Given the description of an element on the screen output the (x, y) to click on. 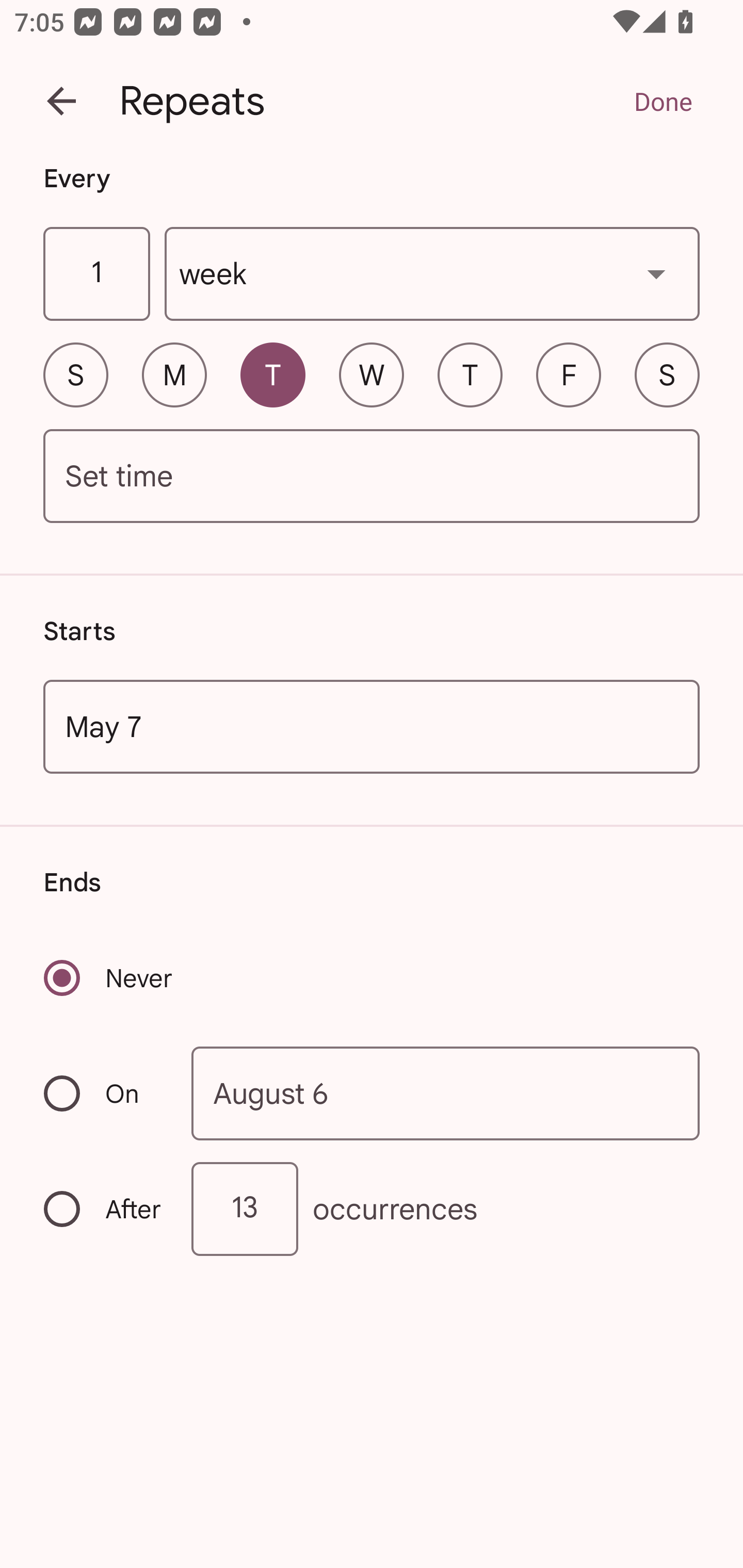
Back (61, 101)
Done (663, 101)
1 (96, 274)
week (431, 274)
Show dropdown menu (655, 273)
S Sunday (75, 374)
M Monday (173, 374)
T Tuesday, selected (272, 374)
W Wednesday (371, 374)
T Thursday (469, 374)
F Friday (568, 374)
S Saturday (666, 374)
Set time (371, 476)
May 7 (371, 726)
Never Recurrence never ends (109, 978)
August 6 (445, 1092)
On Recurrence ends on a specific date (104, 1093)
13 (244, 1208)
